Given the description of an element on the screen output the (x, y) to click on. 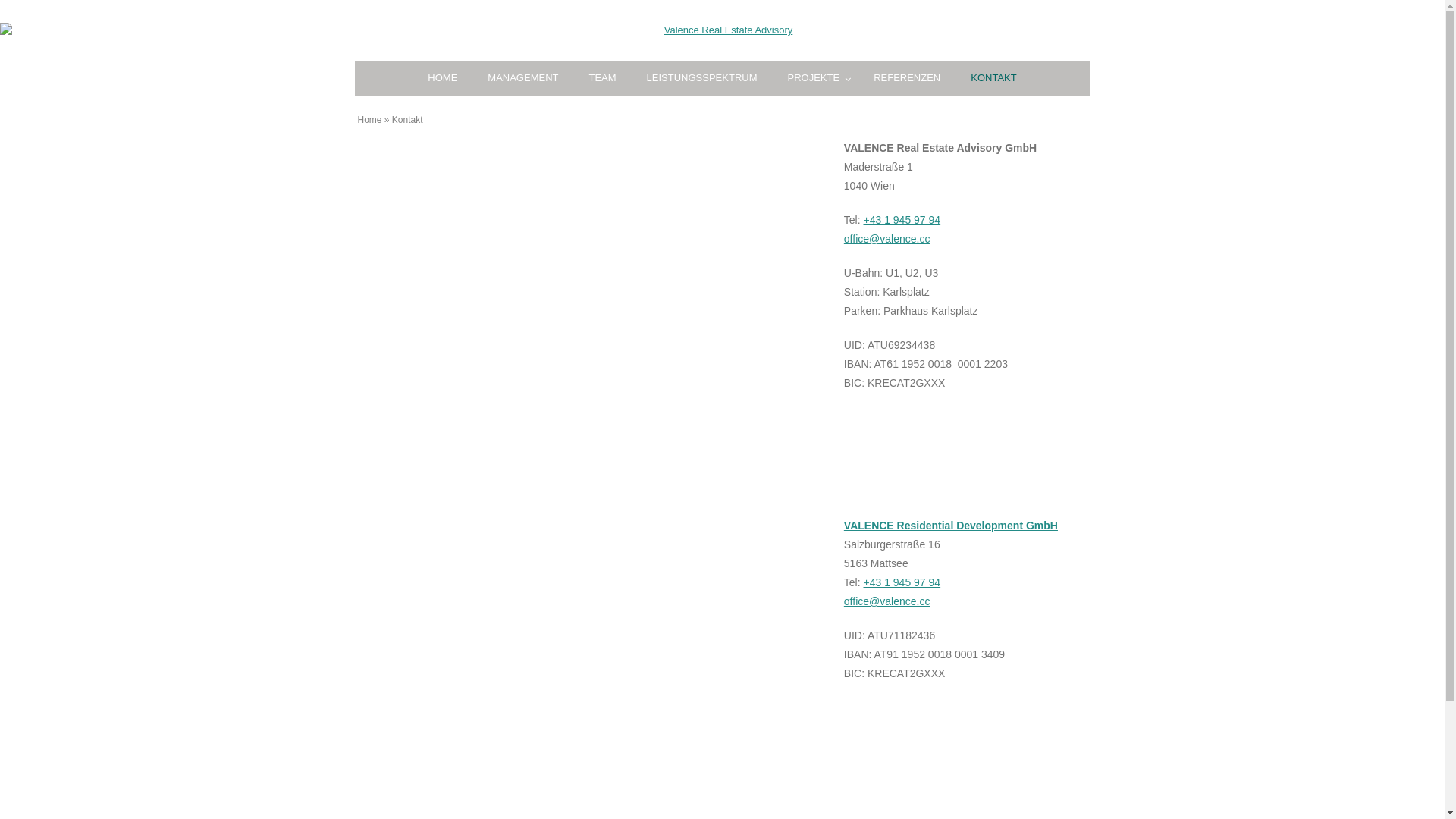
VALENCE Residential Development GmbH Element type: text (950, 525)
REFERENZEN Element type: text (906, 78)
MANAGEMENT Element type: text (522, 78)
PROJEKTE Element type: text (815, 78)
+43 1 945 97 94 Element type: text (902, 219)
HOME Element type: text (442, 78)
office@valence.cc Element type: text (887, 601)
KONTAKT Element type: text (993, 78)
office@valence.cc Element type: text (887, 238)
LEISTUNGSSPEKTRUM Element type: text (701, 78)
TEAM Element type: text (601, 78)
+43 1 945 97 94 Element type: text (902, 582)
Home Element type: text (369, 119)
